Given the description of an element on the screen output the (x, y) to click on. 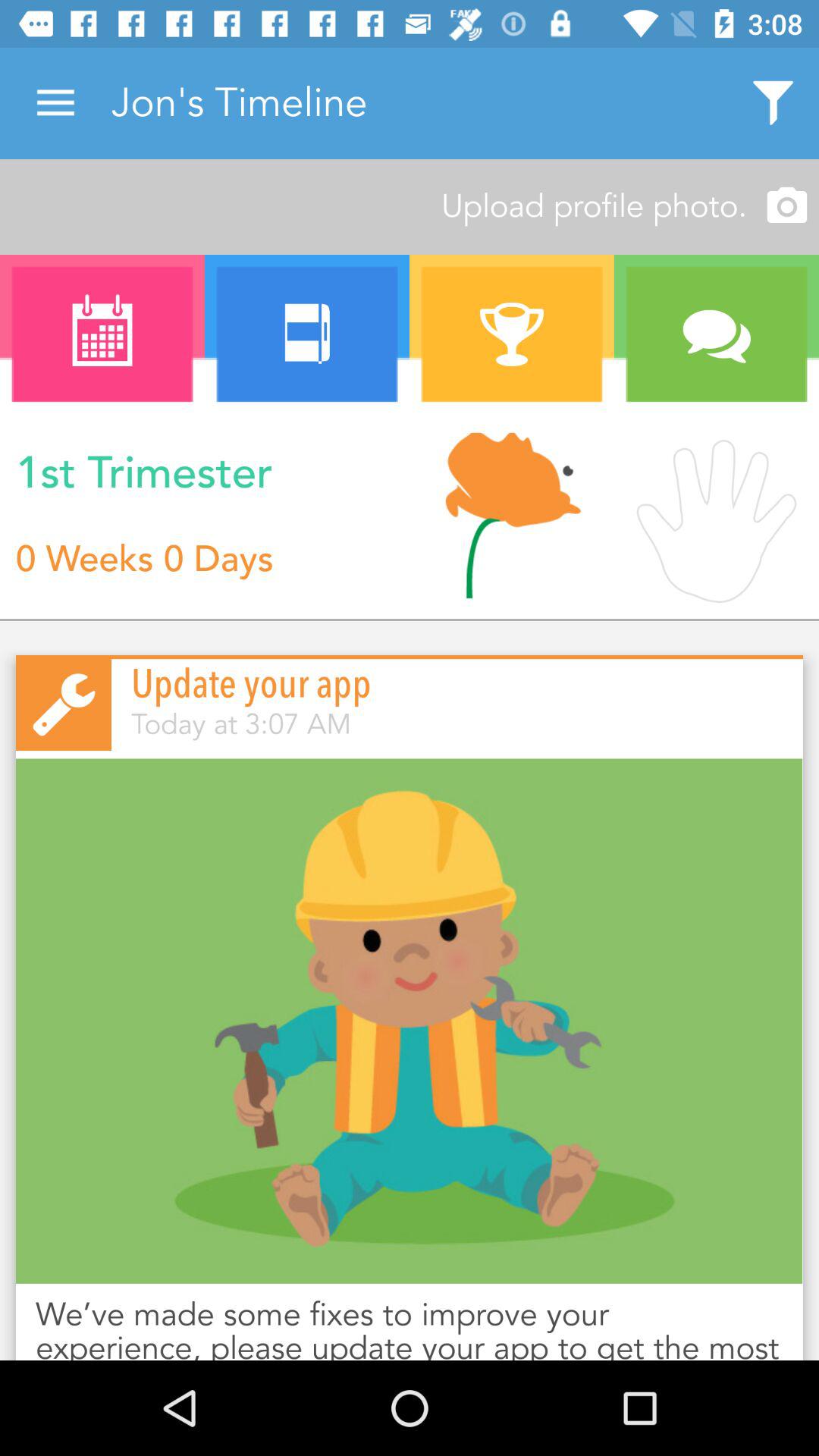
launch icon above the upload profile photo. icon (773, 102)
